Given the description of an element on the screen output the (x, y) to click on. 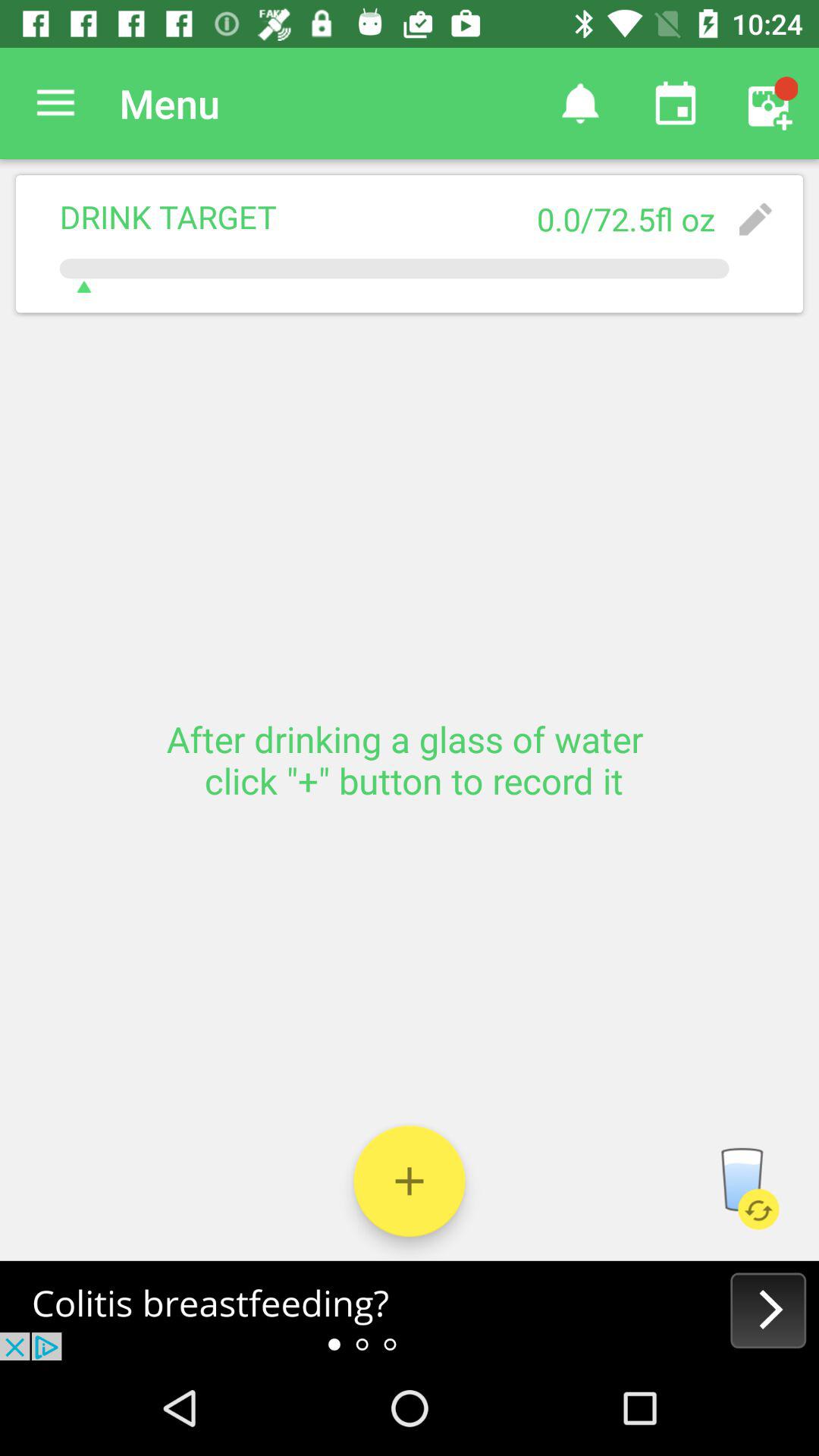
menu (55, 103)
